Given the description of an element on the screen output the (x, y) to click on. 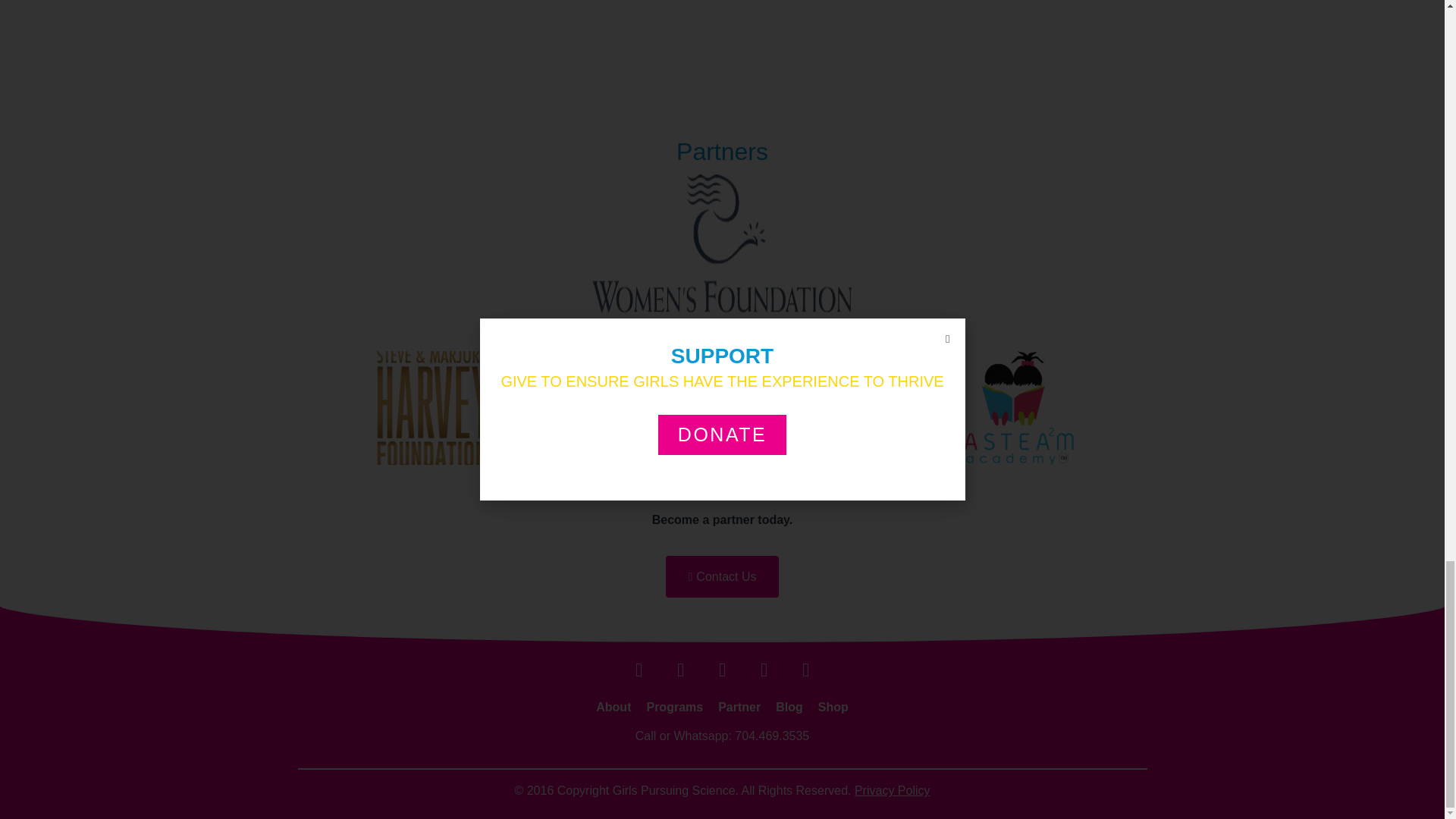
SA-Steam (1010, 408)
